Given the description of an element on the screen output the (x, y) to click on. 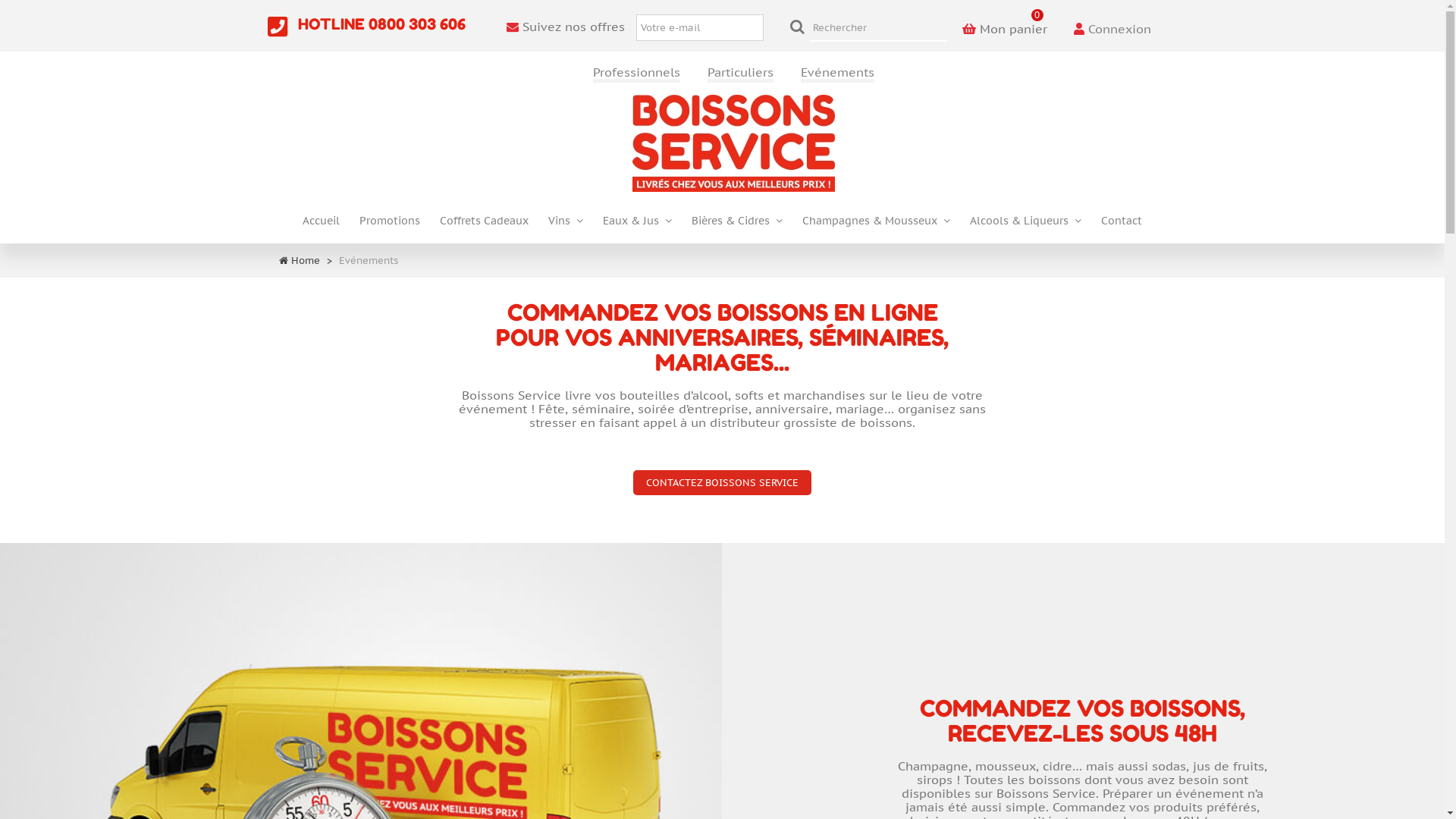
Boissons Service Element type: hover (733, 141)
Accueil Element type: text (320, 225)
Mon panier
0 Element type: text (1003, 17)
Professionnels Element type: text (636, 73)
Vins Element type: text (565, 225)
Eaux & Jus Element type: text (636, 225)
Contact Element type: text (1121, 225)
Promotions Element type: text (389, 225)
0800 303 606 Element type: text (416, 24)
Particuliers Element type: text (740, 73)
CONTACTEZ BOISSONS SERVICE Element type: text (722, 482)
Coffrets Cadeaux Element type: text (483, 225)
Champagnes & Mousseux Element type: text (876, 225)
Alcools & Liqueurs Element type: text (1025, 225)
Home Element type: text (305, 260)
